Given the description of an element on the screen output the (x, y) to click on. 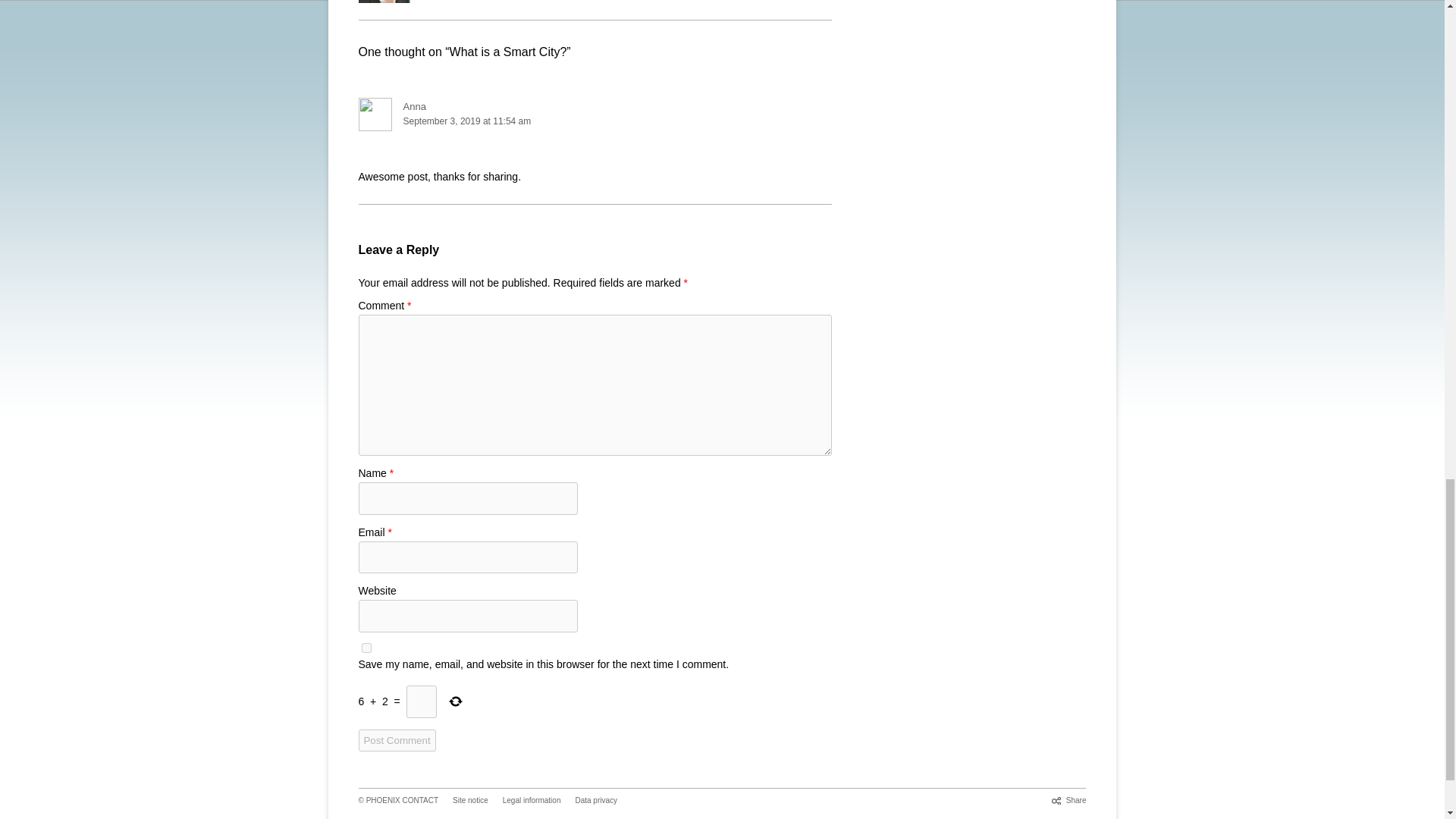
Legal information (531, 800)
Site notice (469, 800)
Data privacy (596, 800)
September 3, 2019 at 11:54 am (594, 121)
Share (1068, 798)
Post Comment (396, 740)
yes (366, 647)
Anna (414, 106)
Post Comment (396, 740)
